Given the description of an element on the screen output the (x, y) to click on. 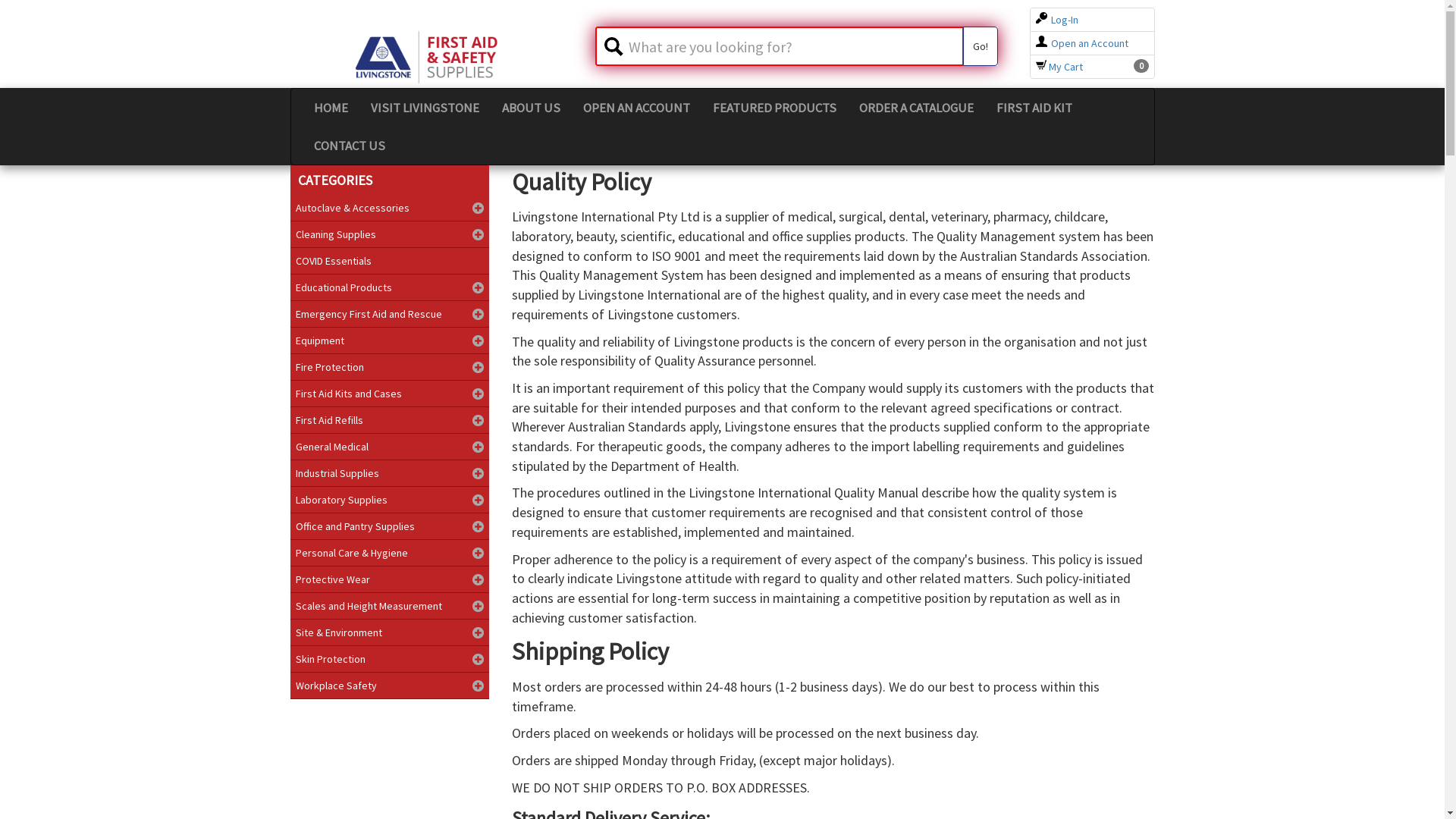
Site & Environment Element type: text (389, 632)
Emergency First Aid and Rescue Element type: text (389, 313)
Open an Account Element type: text (1081, 43)
Log-In Element type: text (1056, 19)
First Aid Kits and Cases Element type: text (389, 393)
Fire Protection Element type: text (389, 366)
Industrial Supplies Element type: text (389, 473)
HOME Element type: text (329, 107)
FIRST AID KIT Element type: text (1033, 107)
ORDER A CATALOGUE Element type: text (916, 107)
Go! Element type: text (980, 45)
CONTACT US Element type: text (348, 145)
Cleaning Supplies Element type: text (389, 234)
Scales and Height Measurement Element type: text (389, 605)
ABOUT US Element type: text (530, 107)
Educational Products Element type: text (389, 287)
OPEN AN ACCOUNT Element type: text (636, 107)
Skin Protection Element type: text (389, 658)
VISIT LIVINGSTONE Element type: text (424, 107)
First Aid Refills Element type: text (389, 420)
Laboratory Supplies Element type: text (389, 499)
Autoclave & Accessories Element type: text (389, 207)
General Medical Element type: text (389, 446)
Personal Care & Hygiene Element type: text (389, 552)
Office and Pantry Supplies Element type: text (389, 526)
FEATURED PRODUCTS Element type: text (773, 107)
Equipment Element type: text (389, 340)
Workplace Safety Element type: text (389, 685)
Protective Wear Element type: text (389, 579)
COVID Essentials Element type: text (389, 260)
My Cart Element type: text (1058, 66)
